Given the description of an element on the screen output the (x, y) to click on. 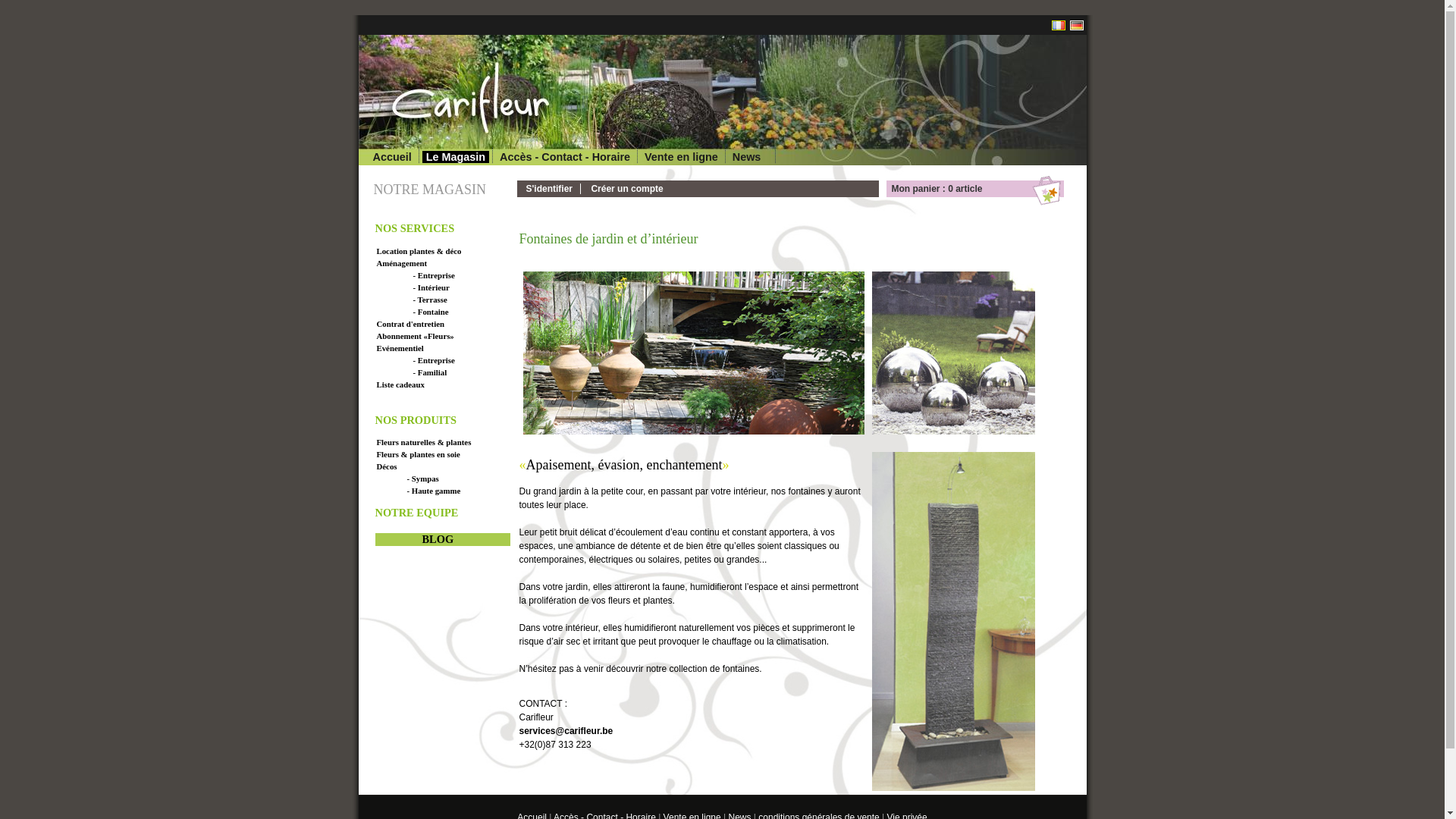
- Sympas Element type: text (465, 478)
- Entreprise Element type: text (465, 275)
Fleurs & plantes en soie Element type: text (450, 454)
Liste cadeaux Element type: text (450, 384)
NOTRE EQUIPE Element type: text (416, 512)
Mon panier : 0 article
  Element type: text (976, 188)
Deutsche Element type: hover (1075, 25)
- Terrasse Element type: text (465, 299)
Fleurs naturelles & plantes Element type: text (450, 442)
S'identifier Element type: text (549, 188)
Vente en ligne Element type: text (680, 156)
- Familial Element type: text (465, 372)
Accueil Element type: text (391, 156)
News Element type: text (746, 156)
- Entreprise Element type: text (465, 360)
services@carifleur.be Element type: text (565, 730)
- Haute gamme Element type: text (465, 490)
Contrat d'entretien Element type: text (450, 323)
BLOG Element type: text (437, 539)
Le Magasin Element type: text (455, 156)
- Fontaine Element type: text (465, 311)
